Given the description of an element on the screen output the (x, y) to click on. 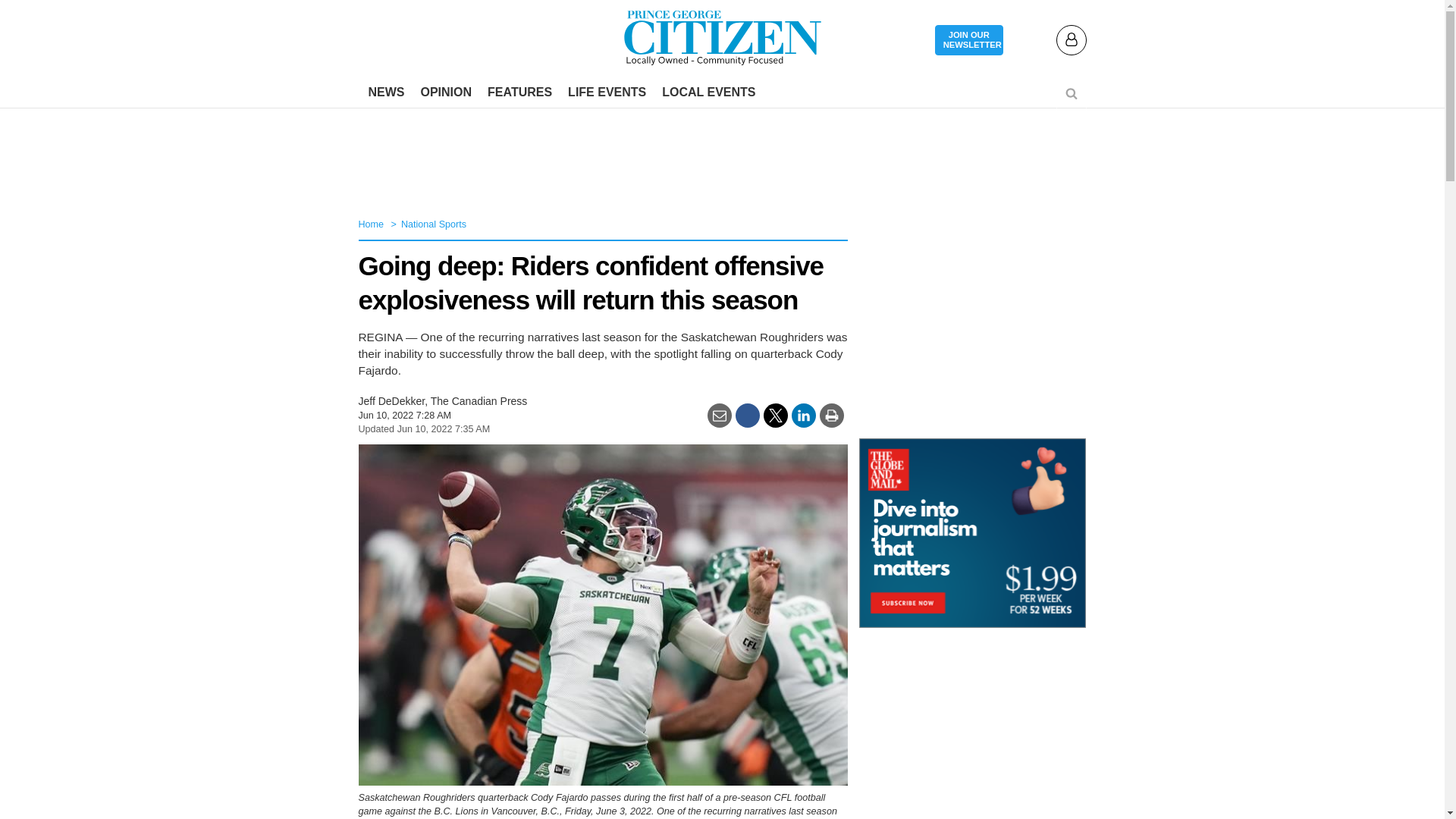
NEWS (386, 92)
JOIN OUR NEWSLETTER (968, 40)
OPINION (445, 92)
